Given the description of an element on the screen output the (x, y) to click on. 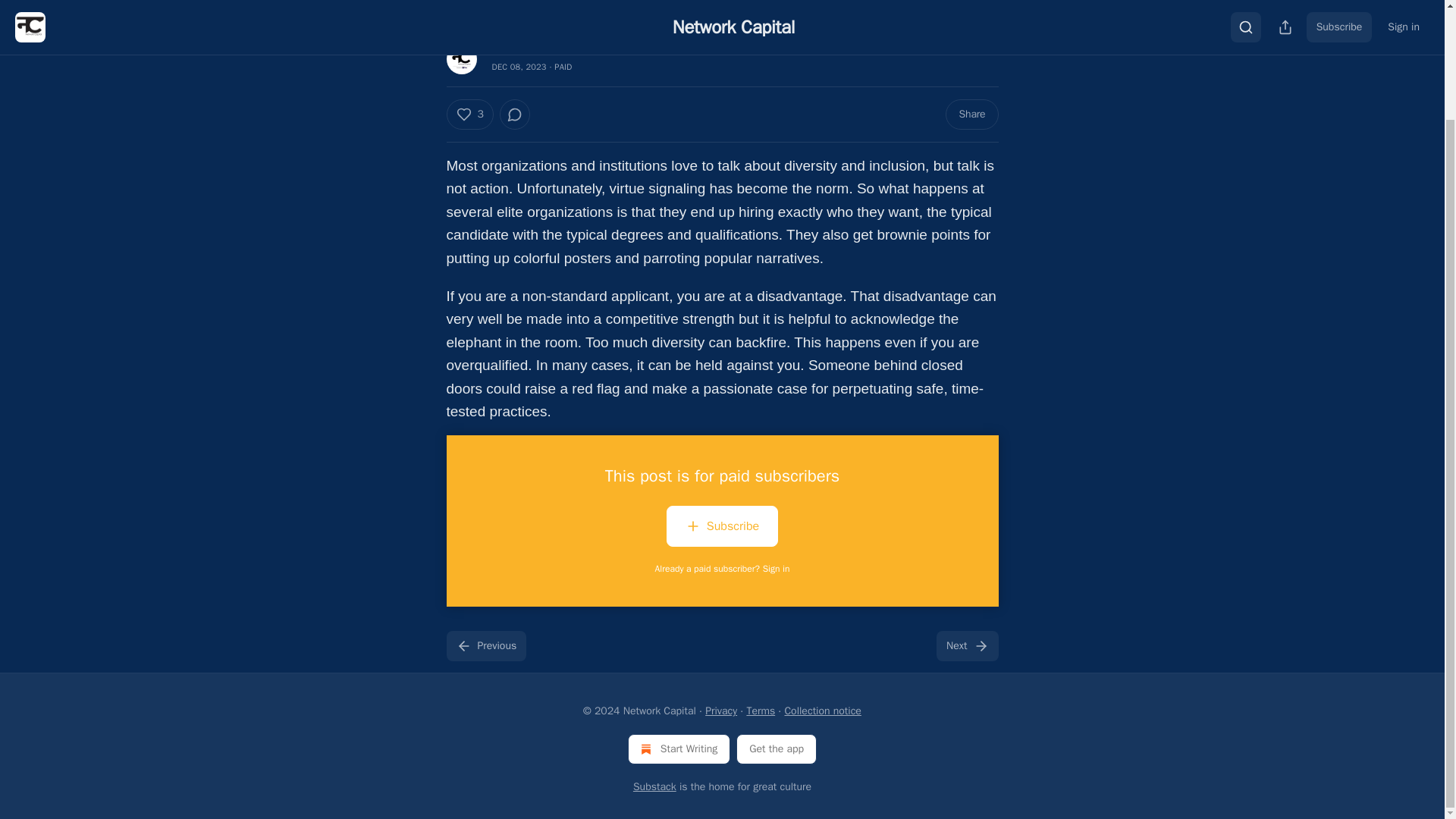
Terms (759, 710)
Subscribe (721, 526)
NETWORK CAPITAL (527, 50)
Next (966, 645)
Previous (485, 645)
3 (469, 114)
Get the app (776, 748)
Subscribe (721, 529)
Share (970, 114)
Privacy (720, 710)
Collection notice (822, 710)
Already a paid subscriber? Sign in (722, 568)
Substack (655, 786)
Start Writing (678, 748)
